Given the description of an element on the screen output the (x, y) to click on. 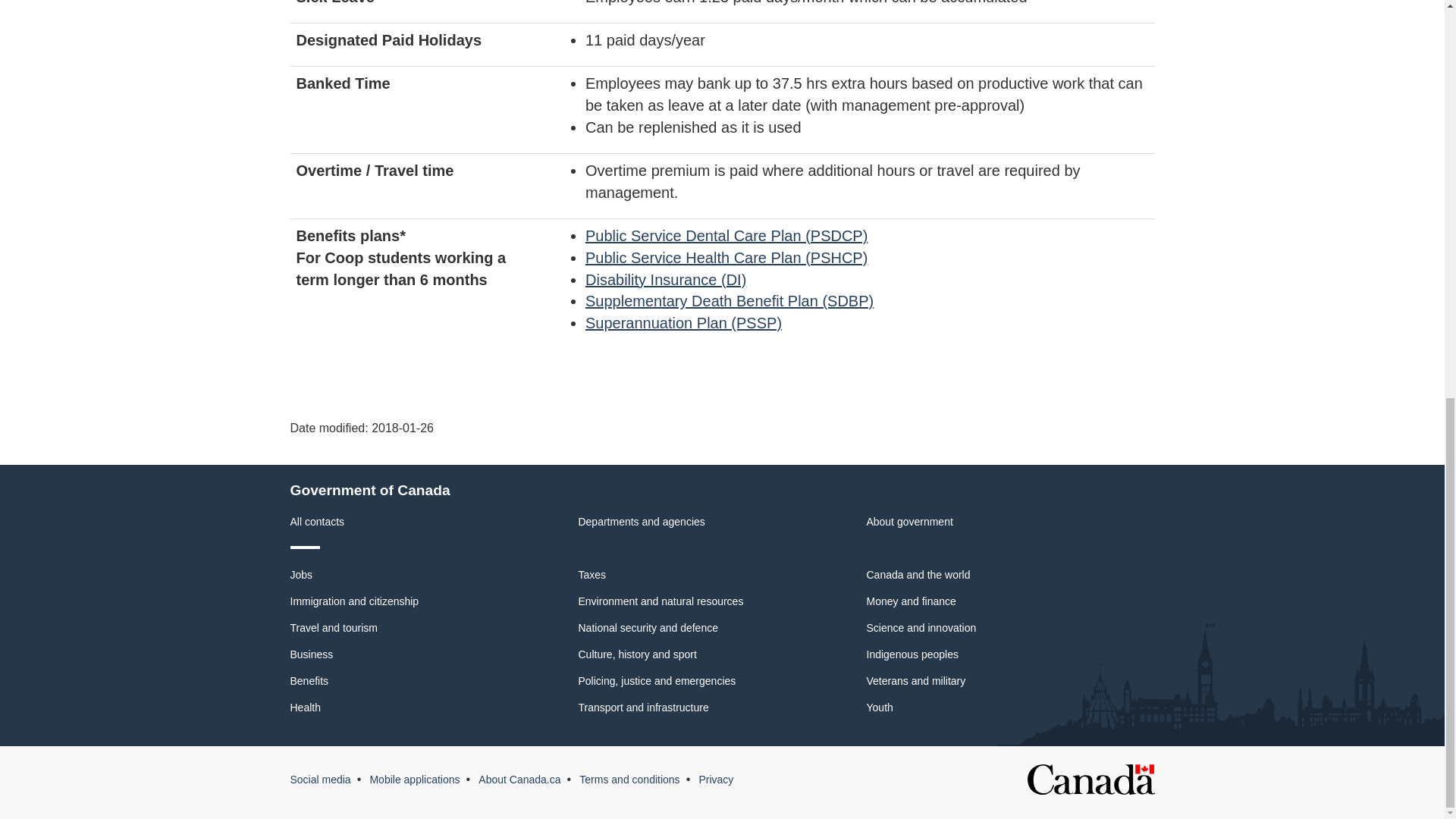
Health (304, 707)
All contacts (316, 521)
About government (909, 521)
Immigration and citizenship (354, 601)
Taxes (591, 574)
Departments and agencies (641, 521)
Benefits (309, 680)
Business (311, 654)
Travel and tourism (333, 627)
Jobs (301, 574)
